Given the description of an element on the screen output the (x, y) to click on. 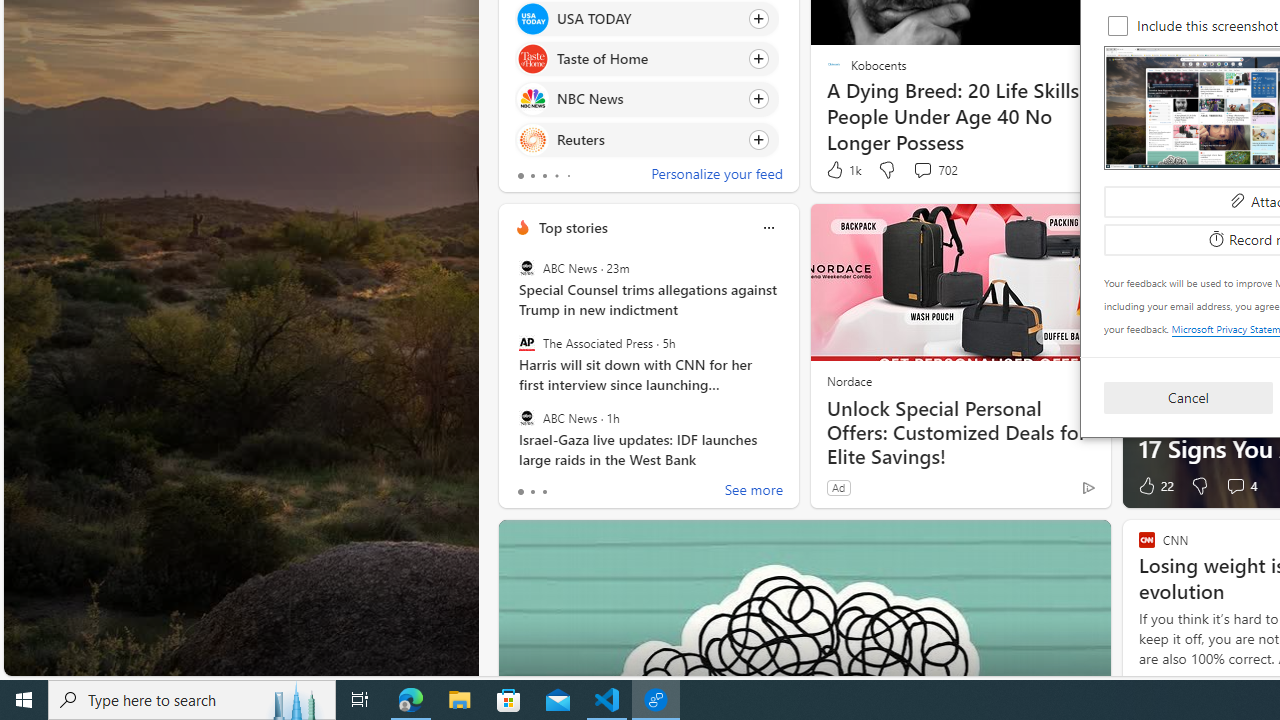
ABC News (526, 417)
22 Like (1154, 485)
File Explorer (460, 699)
View comments 4 Comment (1240, 485)
Click to follow source USA TODAY (646, 18)
Type here to search (191, 699)
tab-3 (556, 175)
Visual Studio Code - 1 running window (607, 699)
The Associated Press (526, 343)
Microsoft Edge - 1 running window (411, 699)
Taste of Home (532, 59)
Cancel (1188, 396)
Click to follow source Taste of Home (646, 59)
